Given the description of an element on the screen output the (x, y) to click on. 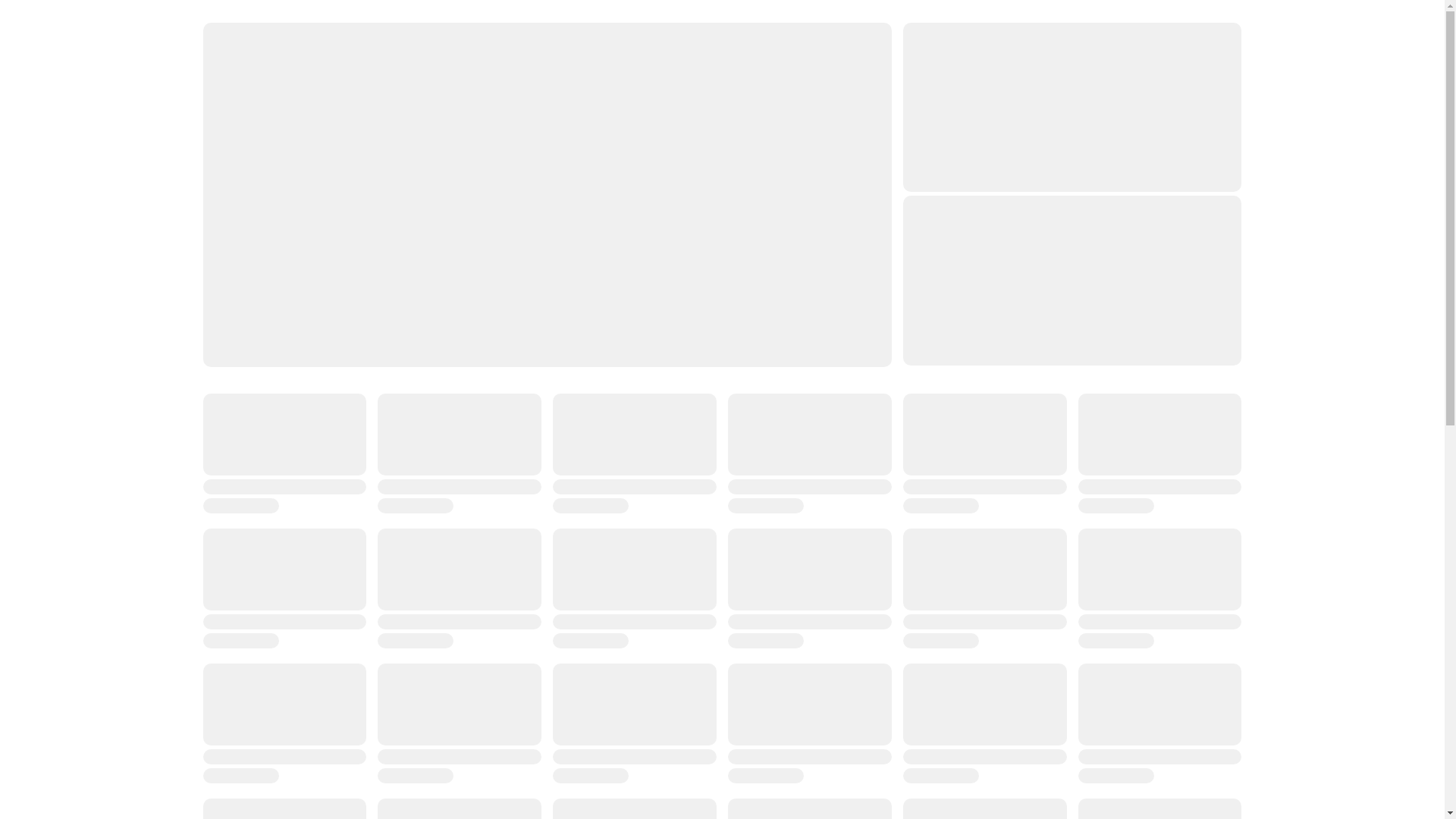
Blog (941, 70)
Seller Center (1036, 70)
Login or Sign up (625, 70)
Order Tracking (492, 70)
Products (743, 70)
Sign in (1045, 29)
Home (388, 70)
Help Center (847, 70)
